Given the description of an element on the screen output the (x, y) to click on. 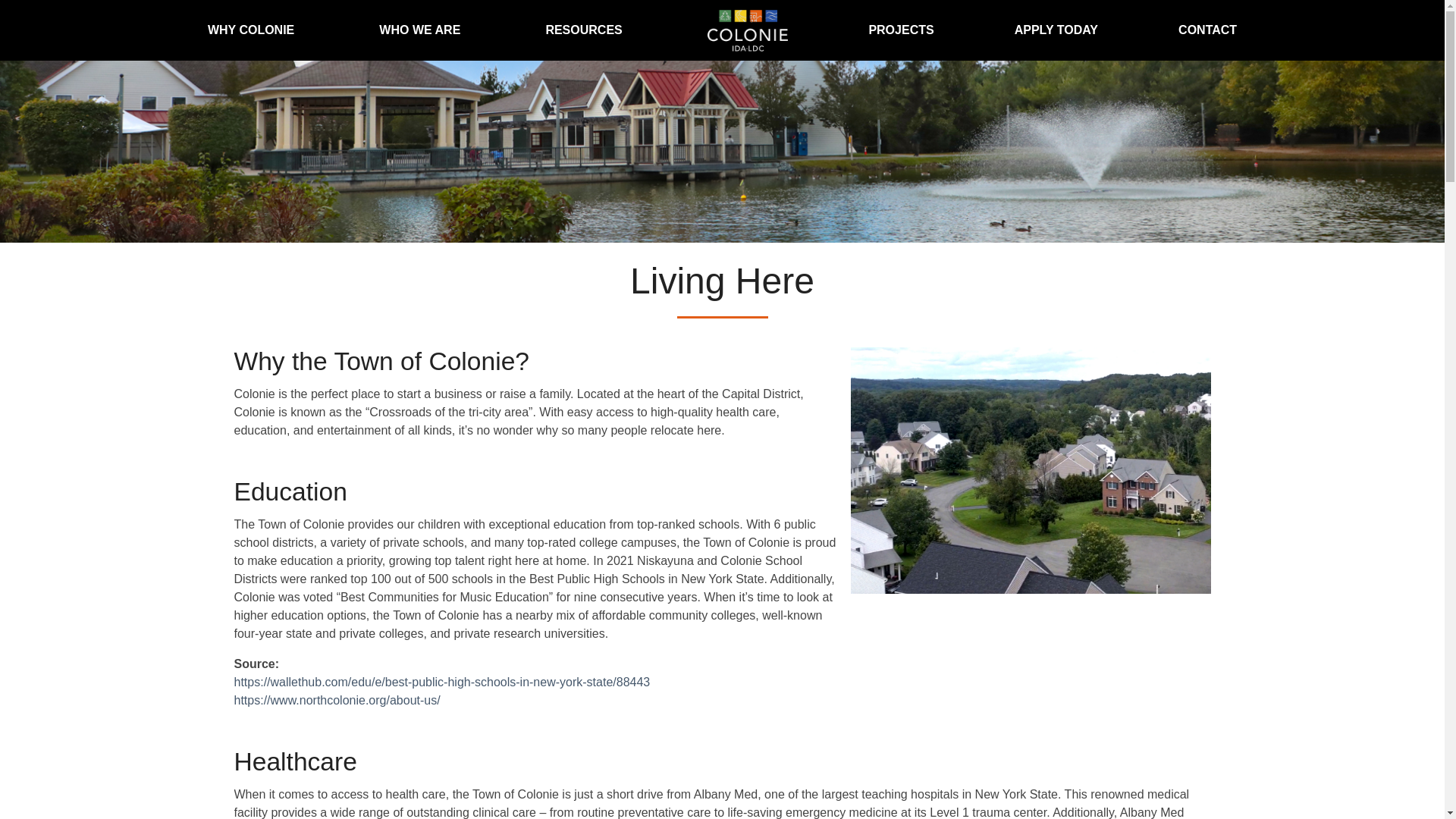
WHY COLONIE (253, 30)
WHO WE ARE (421, 30)
RESOURCES (585, 30)
PROJECTS (900, 30)
CONTACT (1206, 30)
APPLY TODAY (1055, 30)
